Given the description of an element on the screen output the (x, y) to click on. 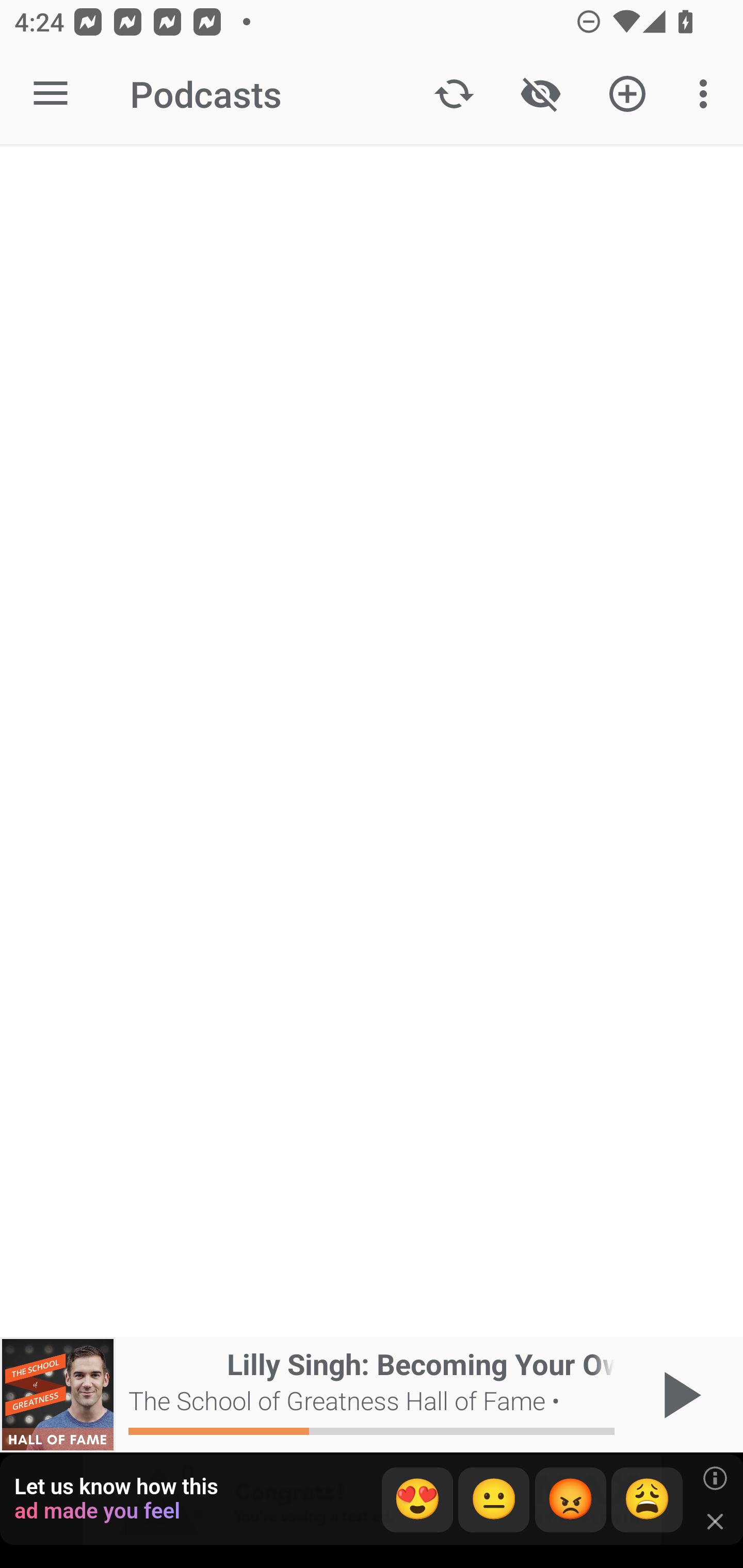
Open navigation sidebar (50, 93)
Update (453, 93)
Show / Hide played content (540, 93)
Add new Podcast (626, 93)
More options (706, 93)
Play / Pause (677, 1394)
app-monetization (371, 1500)
😍 (416, 1499)
😐 (493, 1499)
😡 (570, 1499)
😩 (647, 1499)
